Given the description of an element on the screen output the (x, y) to click on. 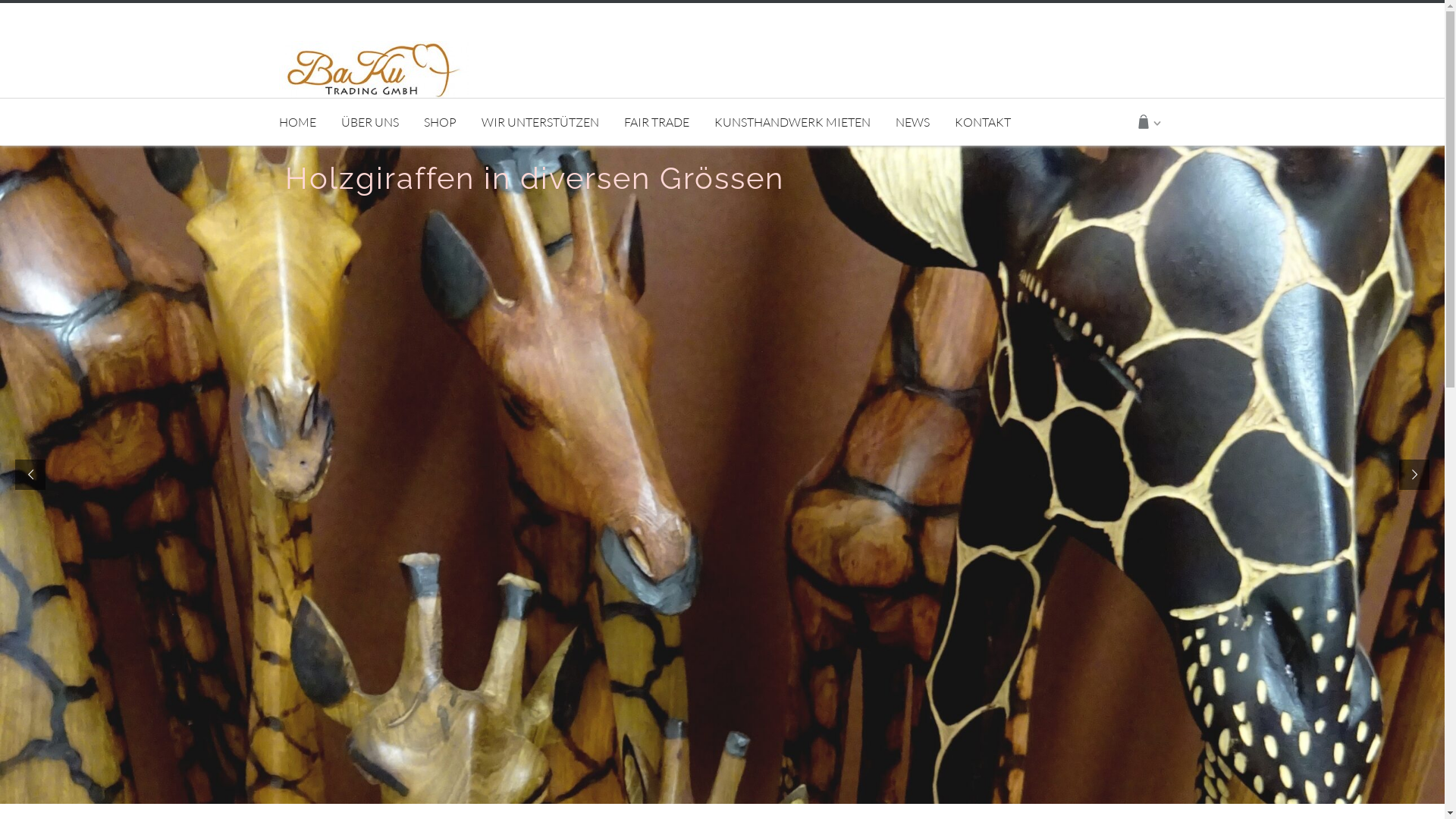
SHOP Element type: text (439, 121)
KUNSTHANDWERK MIETEN Element type: text (791, 121)
NEWS Element type: text (912, 121)
BaKu Trading GmbH Element type: hover (373, 68)
HOME Element type: text (303, 121)
KONTAKT Element type: text (982, 121)
FAIR TRADE Element type: text (656, 121)
Cart Element type: text (1151, 122)
